Given the description of an element on the screen output the (x, y) to click on. 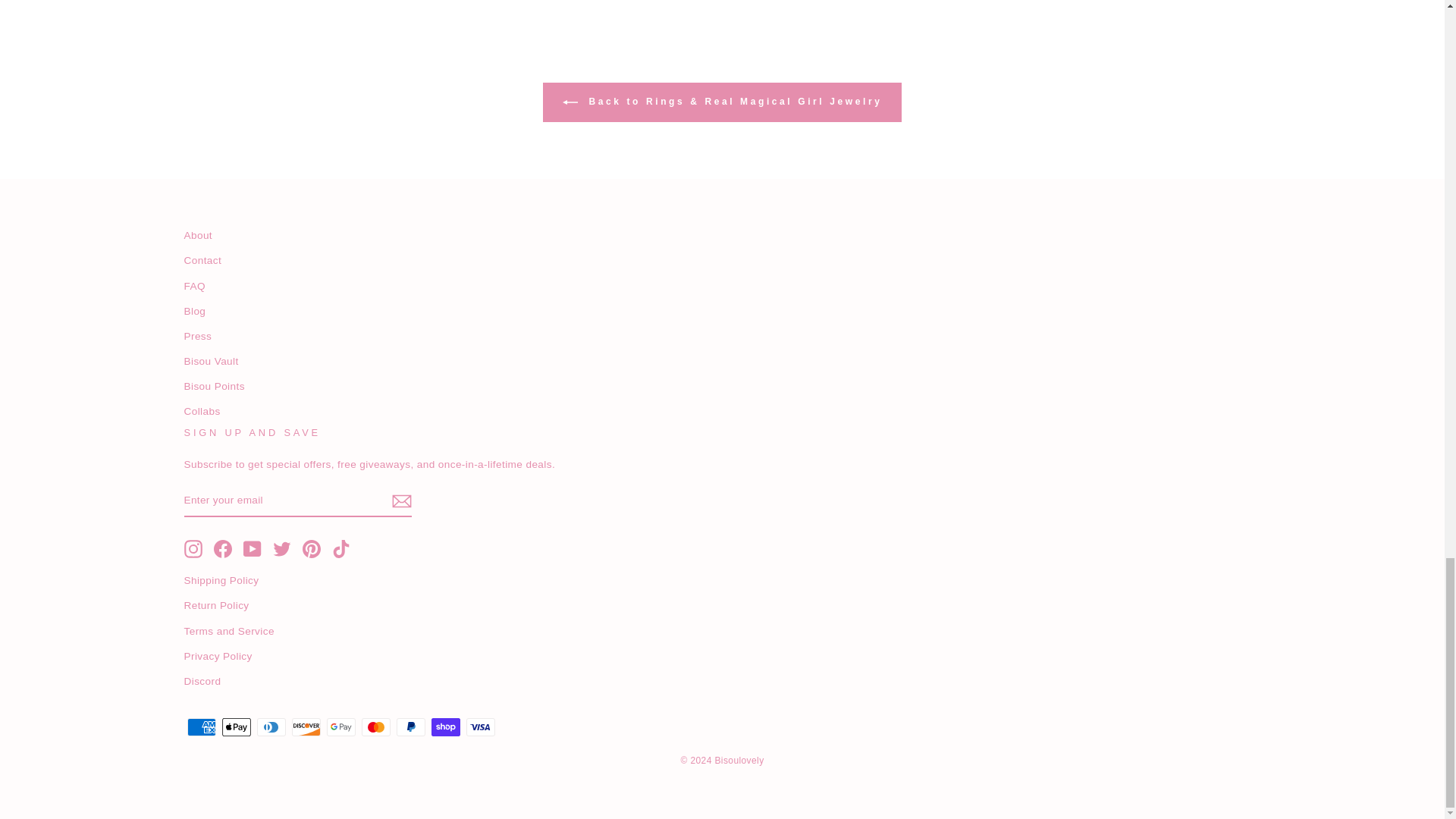
Bisoulovely on Instagram (192, 548)
American Express (200, 727)
Discover (305, 727)
Diners Club (270, 727)
Bisoulovely on Facebook (222, 548)
Apple Pay (235, 727)
Bisoulovely on YouTube (251, 548)
